Given the description of an element on the screen output the (x, y) to click on. 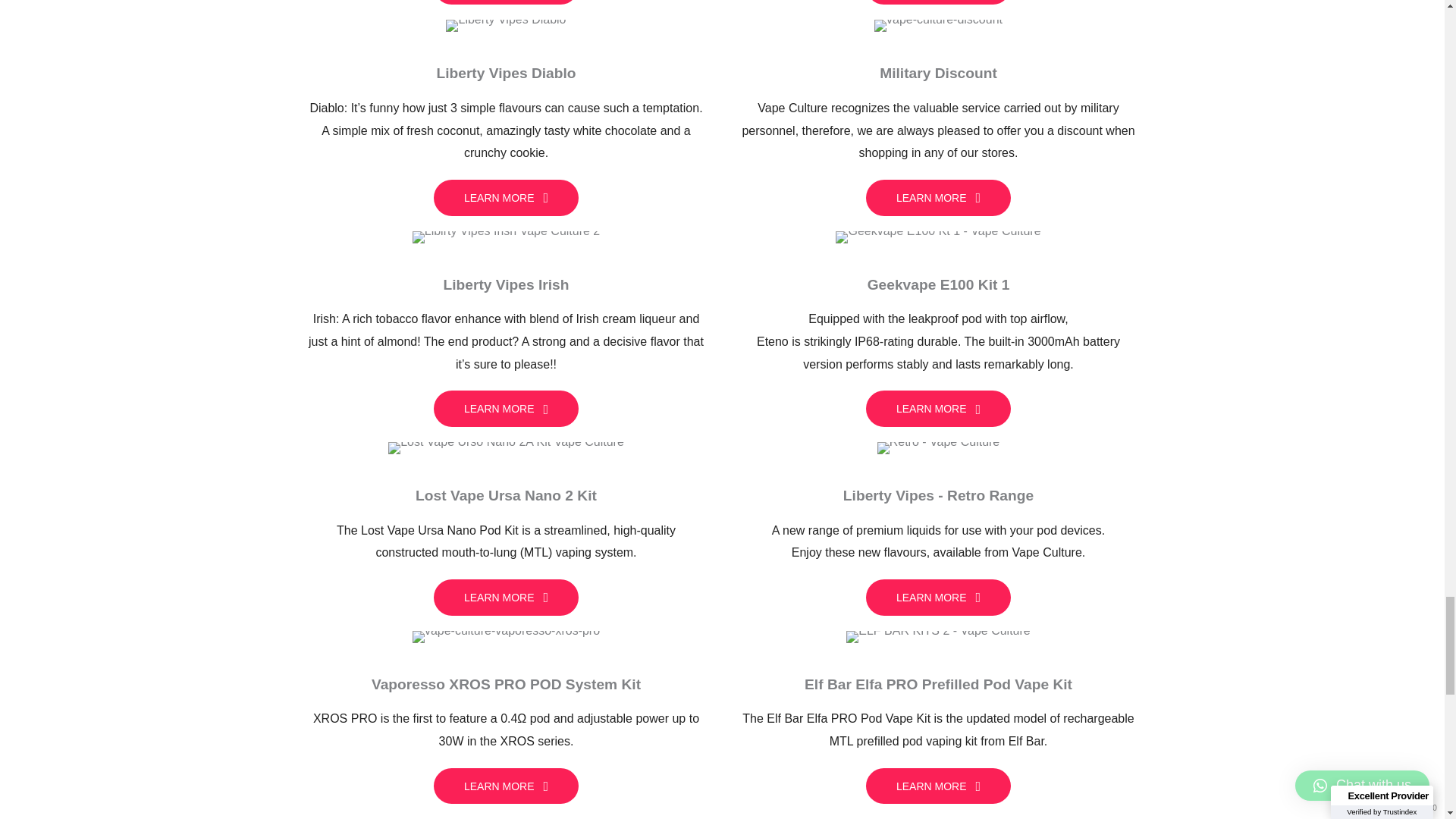
LEARN MORE (505, 597)
LEARN MORE (505, 197)
LEARN MORE (505, 2)
LEARN MORE (505, 408)
LEARN MORE (505, 786)
